Given the description of an element on the screen output the (x, y) to click on. 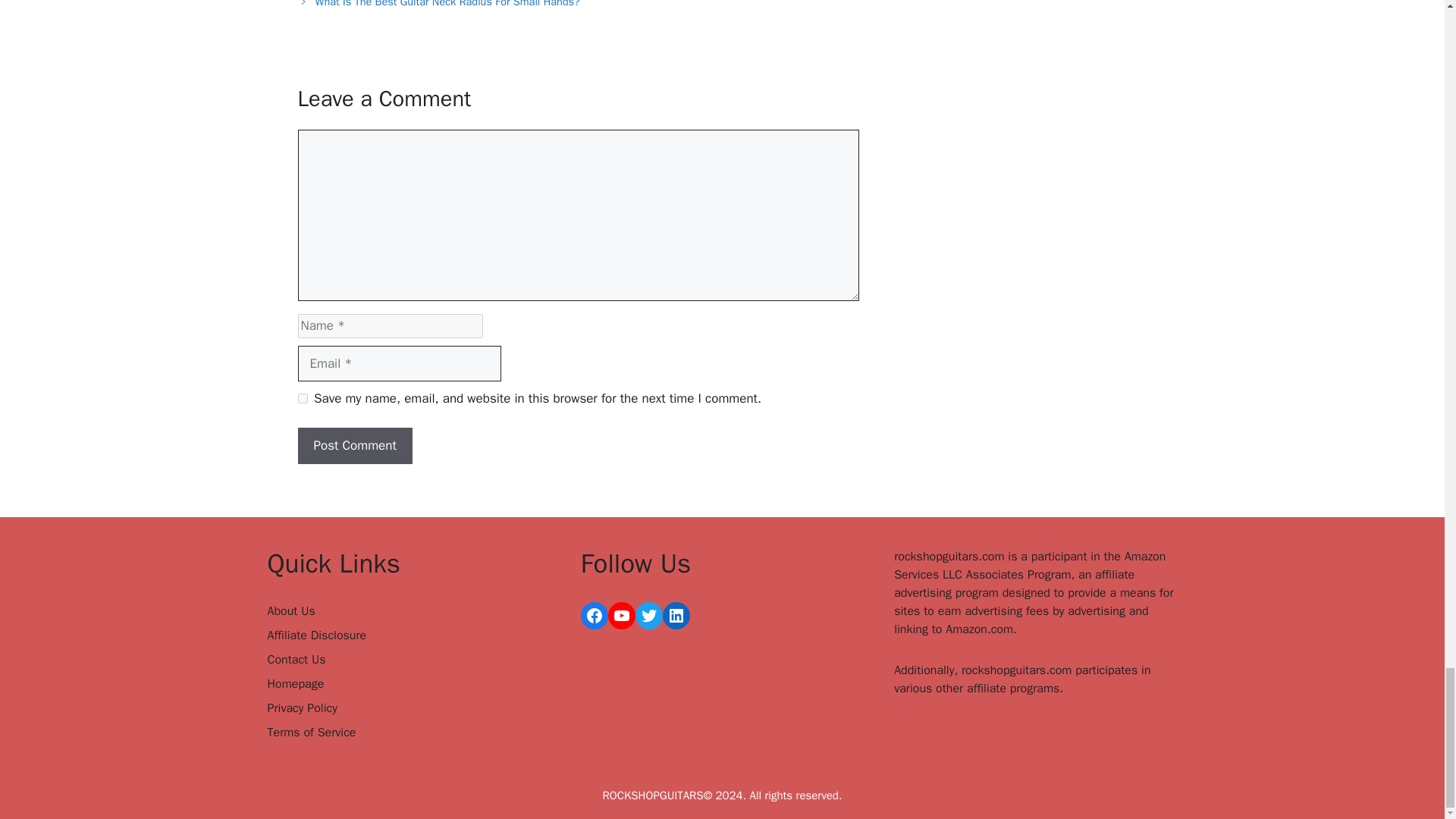
Homepage (294, 683)
Privacy Policy (301, 708)
What Is The Best Guitar Neck Radius For Small Hands? (447, 4)
YouTube (621, 615)
rockshopguitars.com (948, 556)
Post Comment (354, 445)
About Us (290, 611)
yes (302, 398)
Terms of Service (310, 732)
Contact Us (295, 659)
